Given the description of an element on the screen output the (x, y) to click on. 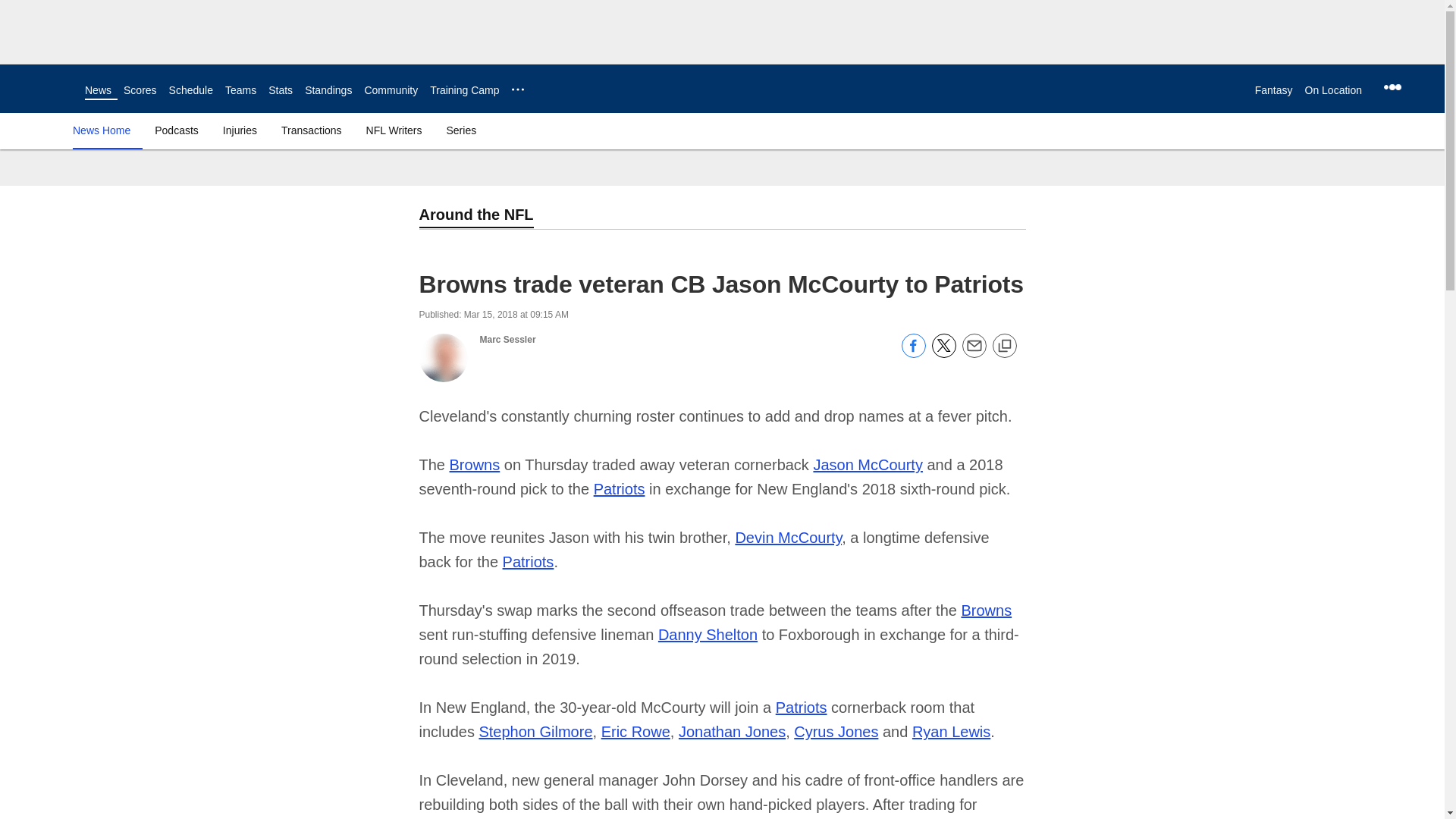
News (98, 90)
Link to NFL homepage (42, 88)
Schedule (190, 90)
Scores (140, 90)
News (98, 90)
Scores (140, 90)
Teams (240, 90)
Teams (240, 90)
Schedule (190, 90)
Stats (279, 90)
